Given the description of an element on the screen output the (x, y) to click on. 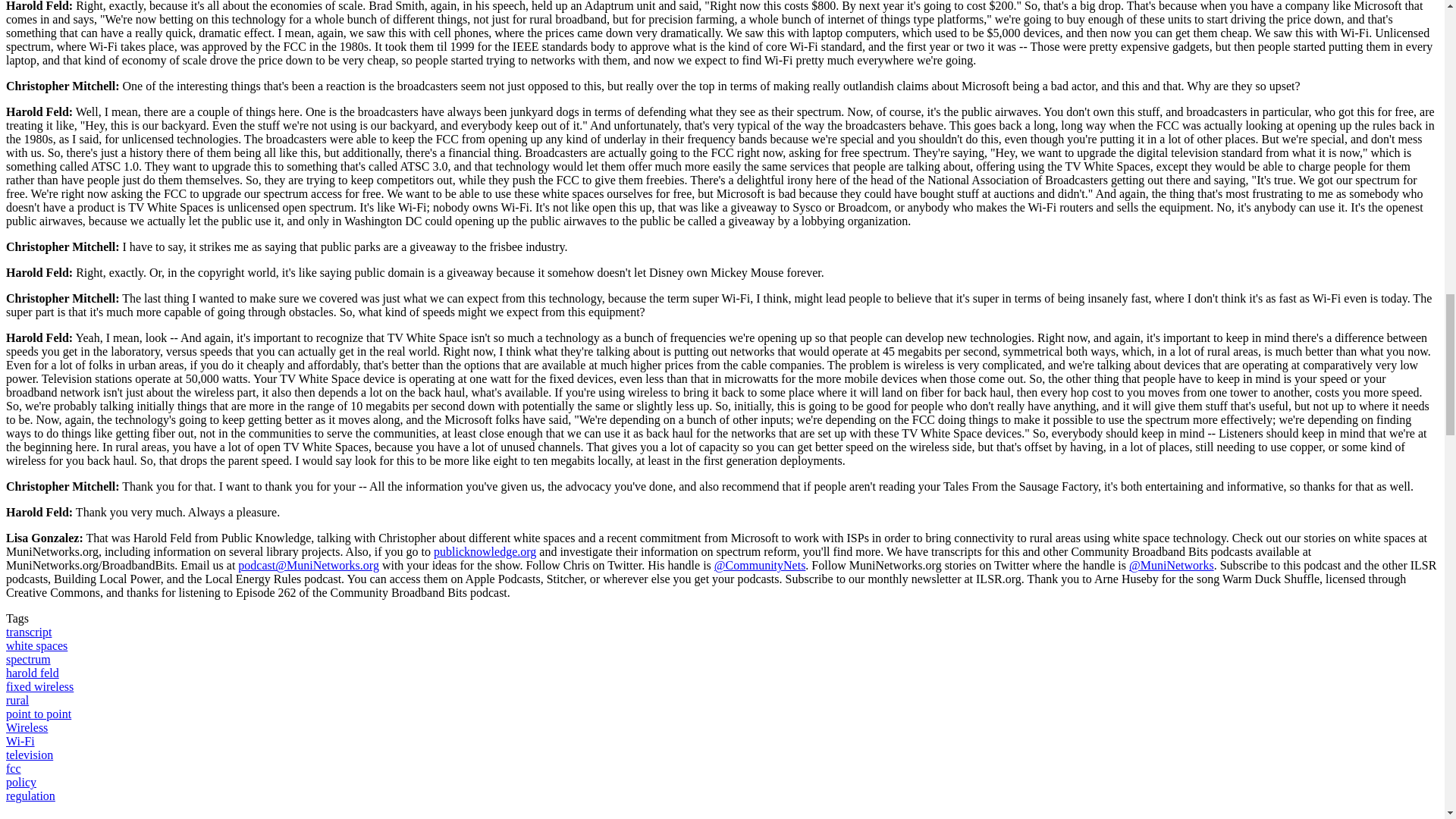
link to publicknowledge (484, 551)
link to muninets (1171, 564)
link to chris twitter (760, 564)
